Given the description of an element on the screen output the (x, y) to click on. 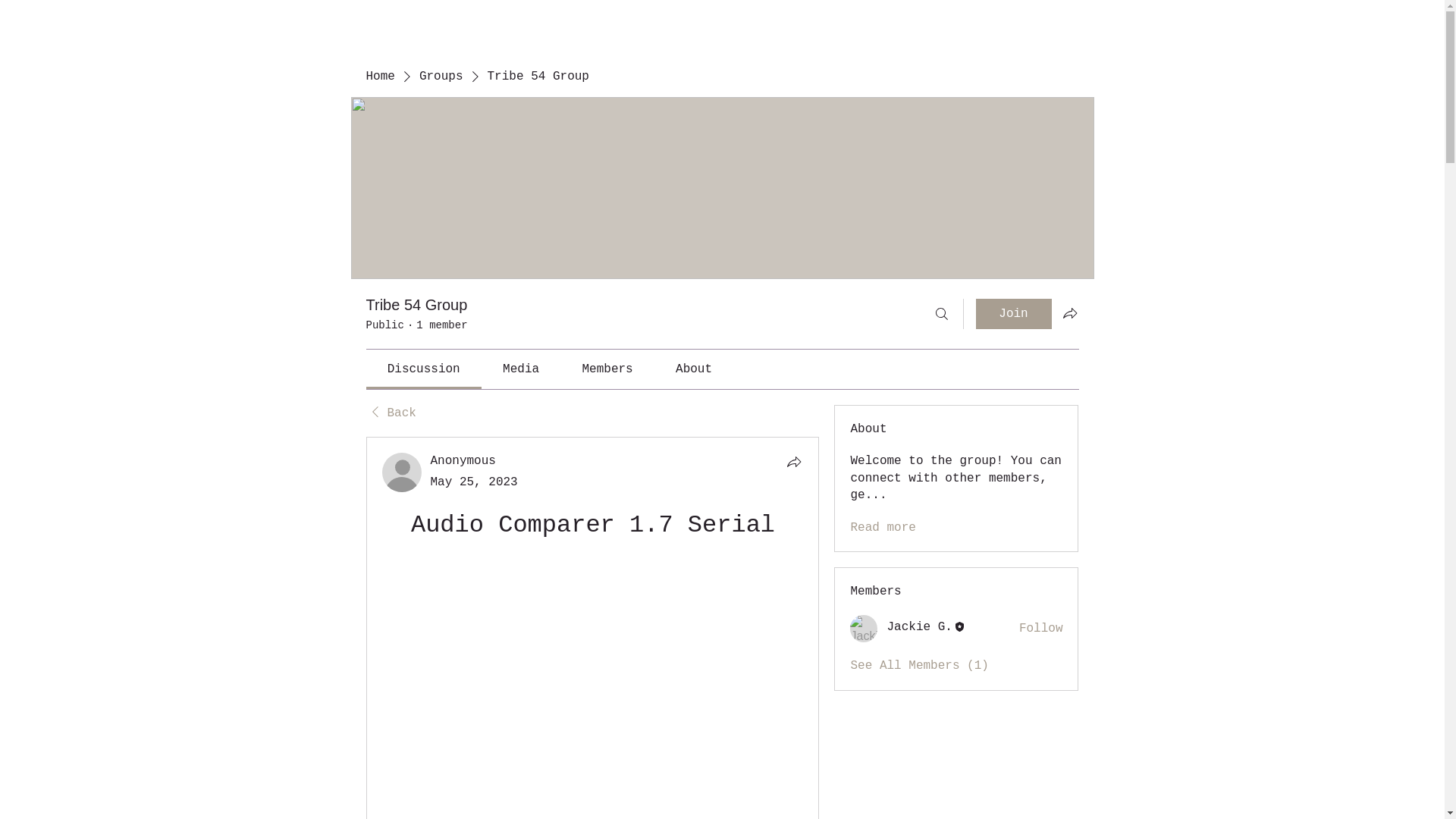
Anonymous (401, 472)
Jackie G. (863, 628)
Groups (441, 76)
Join (1013, 313)
Jackie G. (919, 627)
Anonymous (463, 460)
Read more (882, 527)
Anonymous (463, 460)
Jackie G. (919, 627)
May 25, 2023 (474, 481)
